Given the description of an element on the screen output the (x, y) to click on. 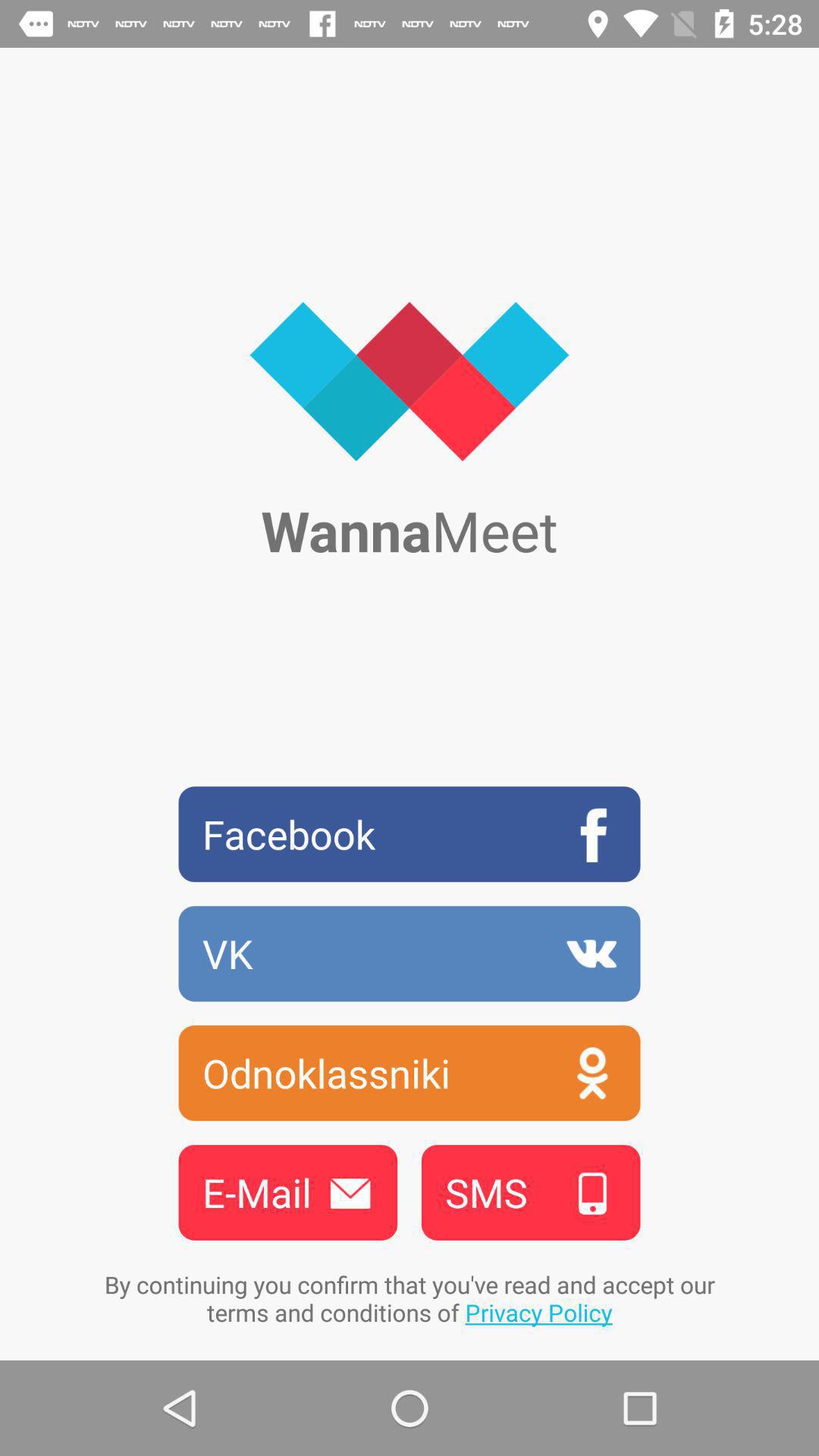
turn off odnoklassniki icon (409, 1072)
